Given the description of an element on the screen output the (x, y) to click on. 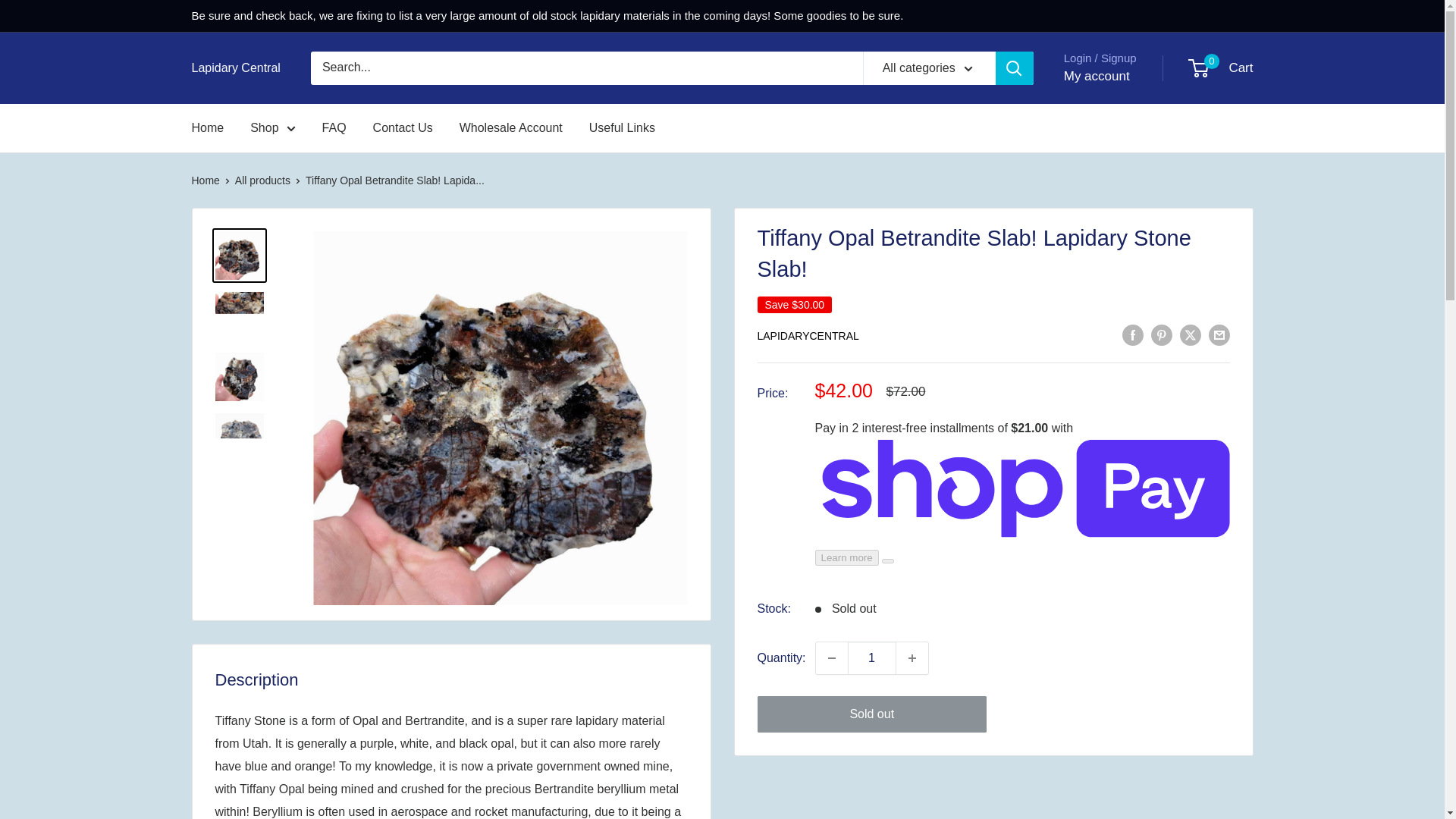
Shop (272, 128)
Lapidary Central (234, 67)
My account (1096, 76)
Decrease quantity by 1 (1221, 68)
Increase quantity by 1 (831, 658)
1 (912, 658)
Home (871, 658)
